Given the description of an element on the screen output the (x, y) to click on. 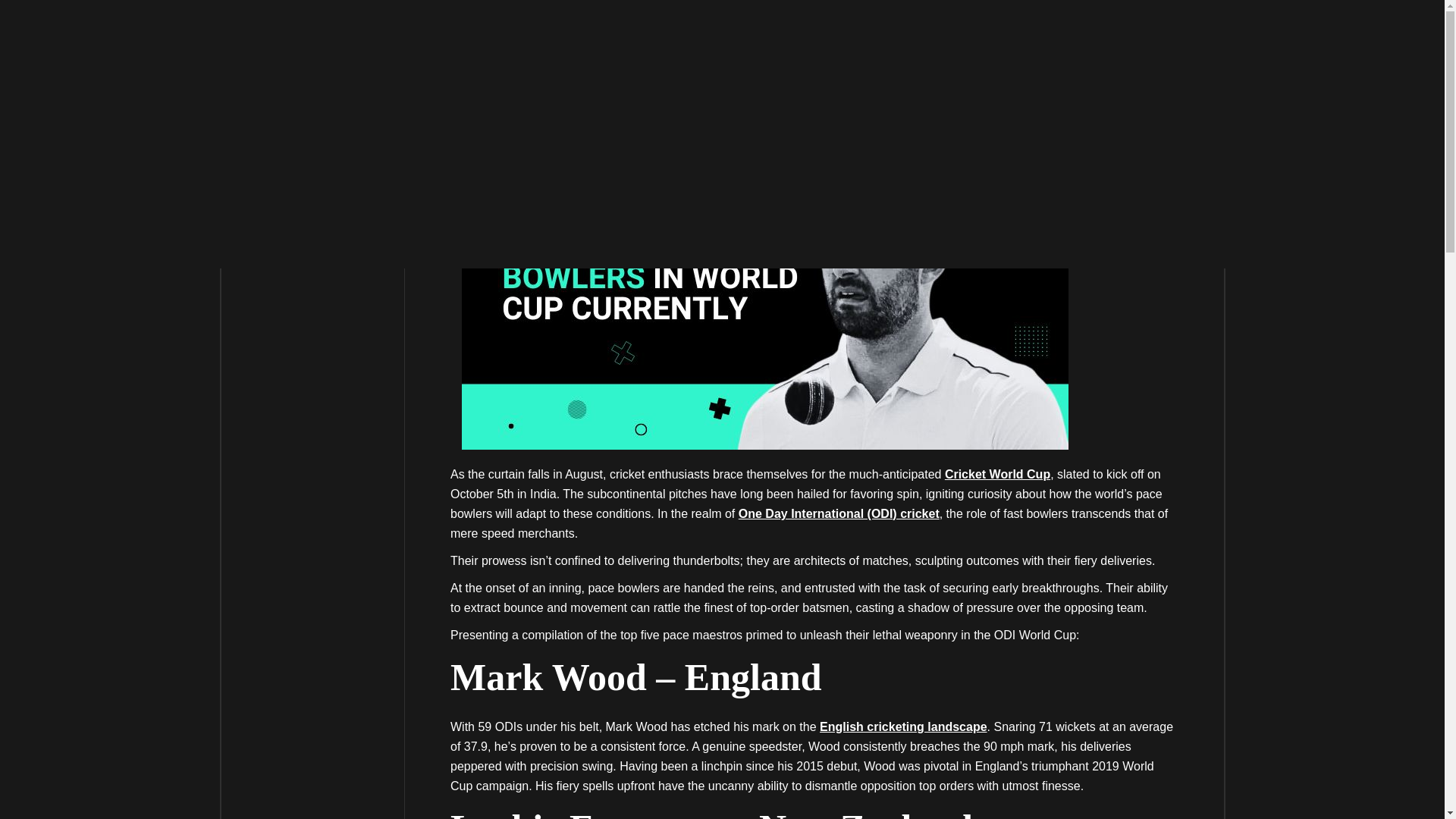
CRICKET (630, 34)
INTERNATIONAL CRICKET (522, 34)
English cricketing landscape (903, 726)
Cricket World Cup (996, 473)
